Given the description of an element on the screen output the (x, y) to click on. 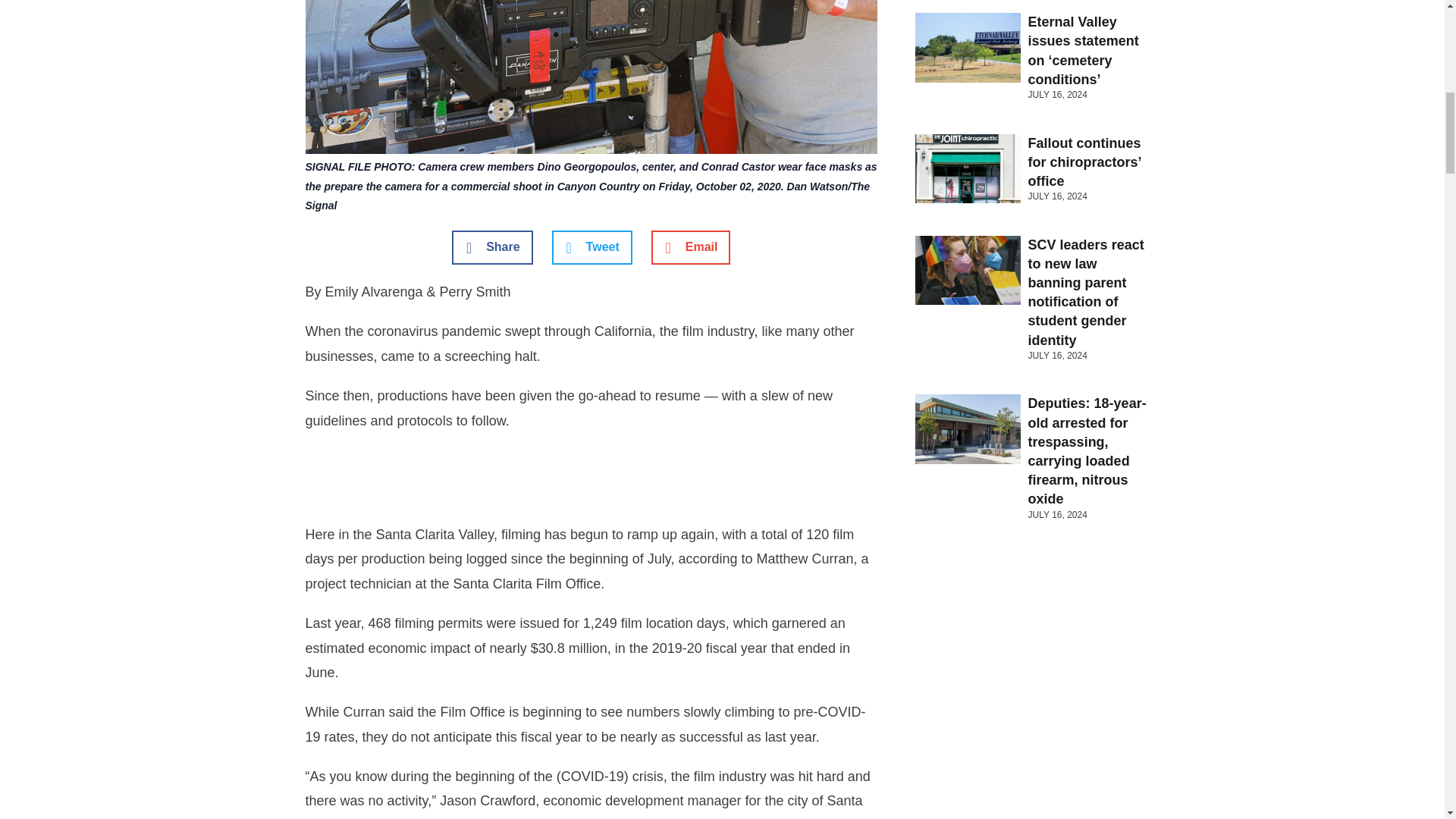
3rd party ad content (591, 481)
